Given the description of an element on the screen output the (x, y) to click on. 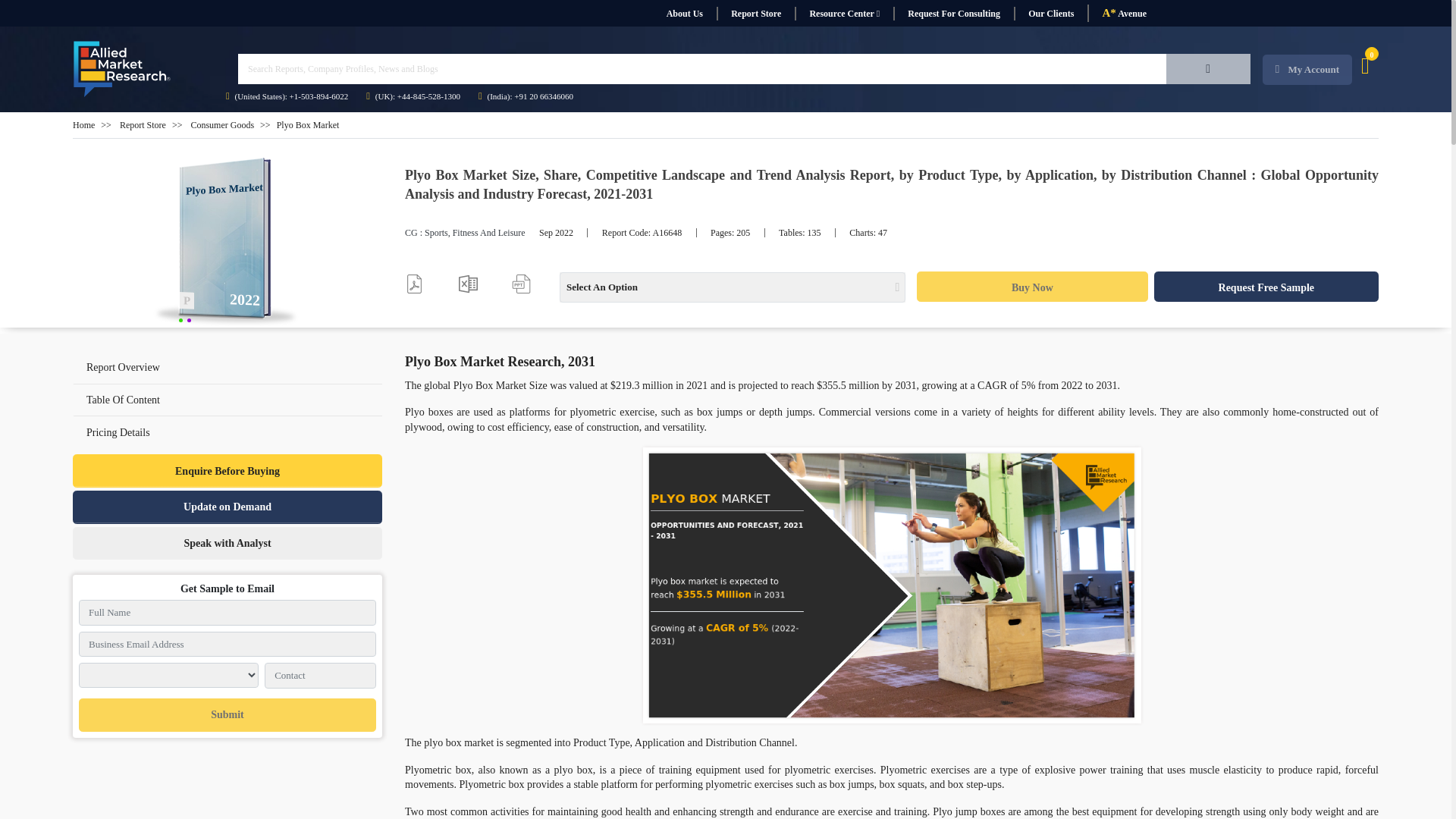
My Account (1307, 69)
Submit (226, 715)
Table Of Content (122, 399)
Our Clients (1050, 13)
Pricing Details (226, 431)
Home (83, 124)
Data Pack Excel (467, 283)
Request Free Sample (1266, 286)
Buy Now (1032, 286)
Report Store (755, 13)
